Given the description of an element on the screen output the (x, y) to click on. 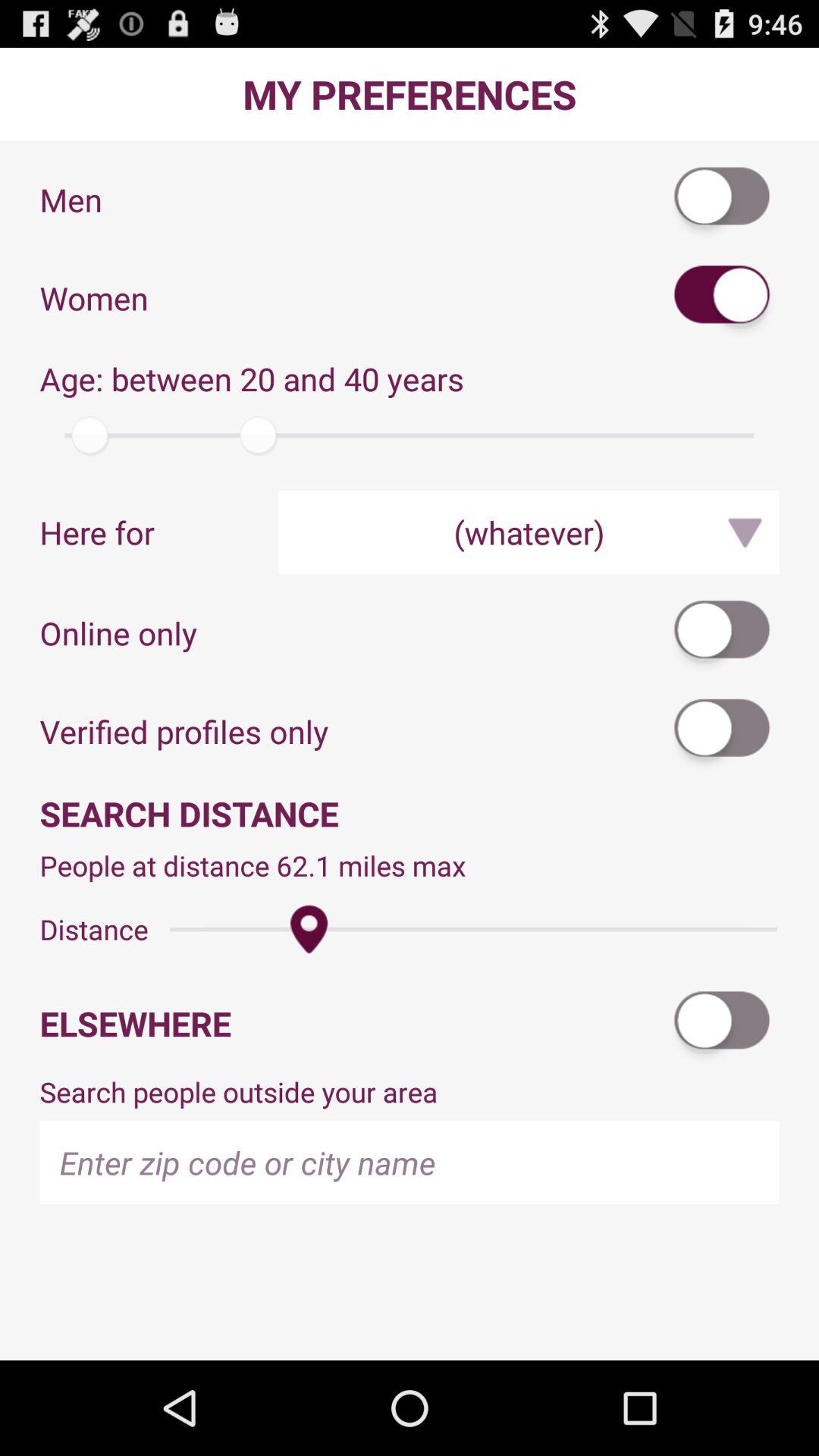
press app to the right of the elsewhere icon (722, 1023)
